Given the description of an element on the screen output the (x, y) to click on. 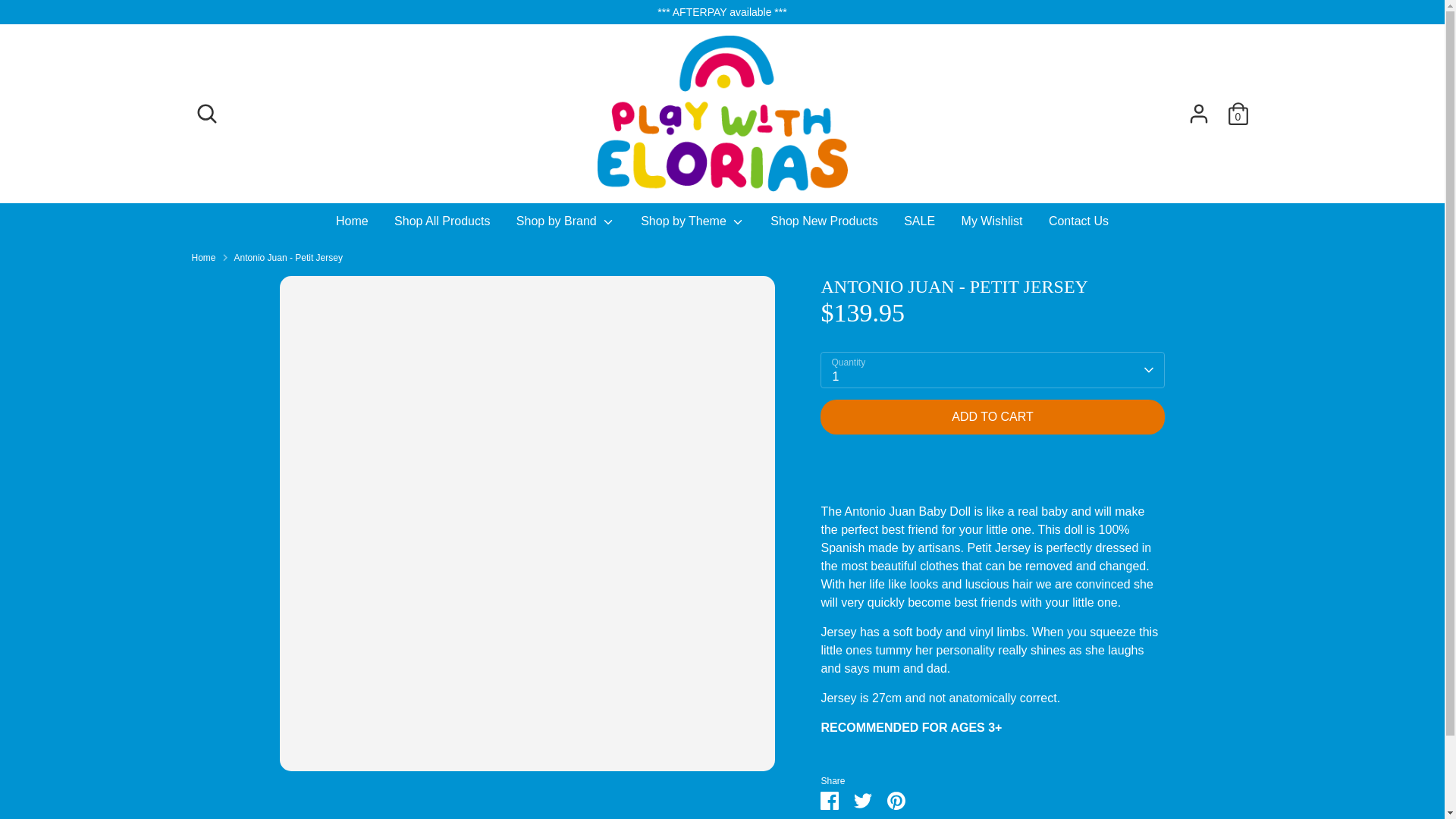
Union Pay (1206, 771)
Shop Pay (1176, 771)
Search (205, 113)
0 (1237, 113)
American Express (1024, 771)
PayPal (1145, 771)
Apple Pay (1054, 771)
Mastercard (1114, 771)
Google Pay (1084, 771)
